Given the description of an element on the screen output the (x, y) to click on. 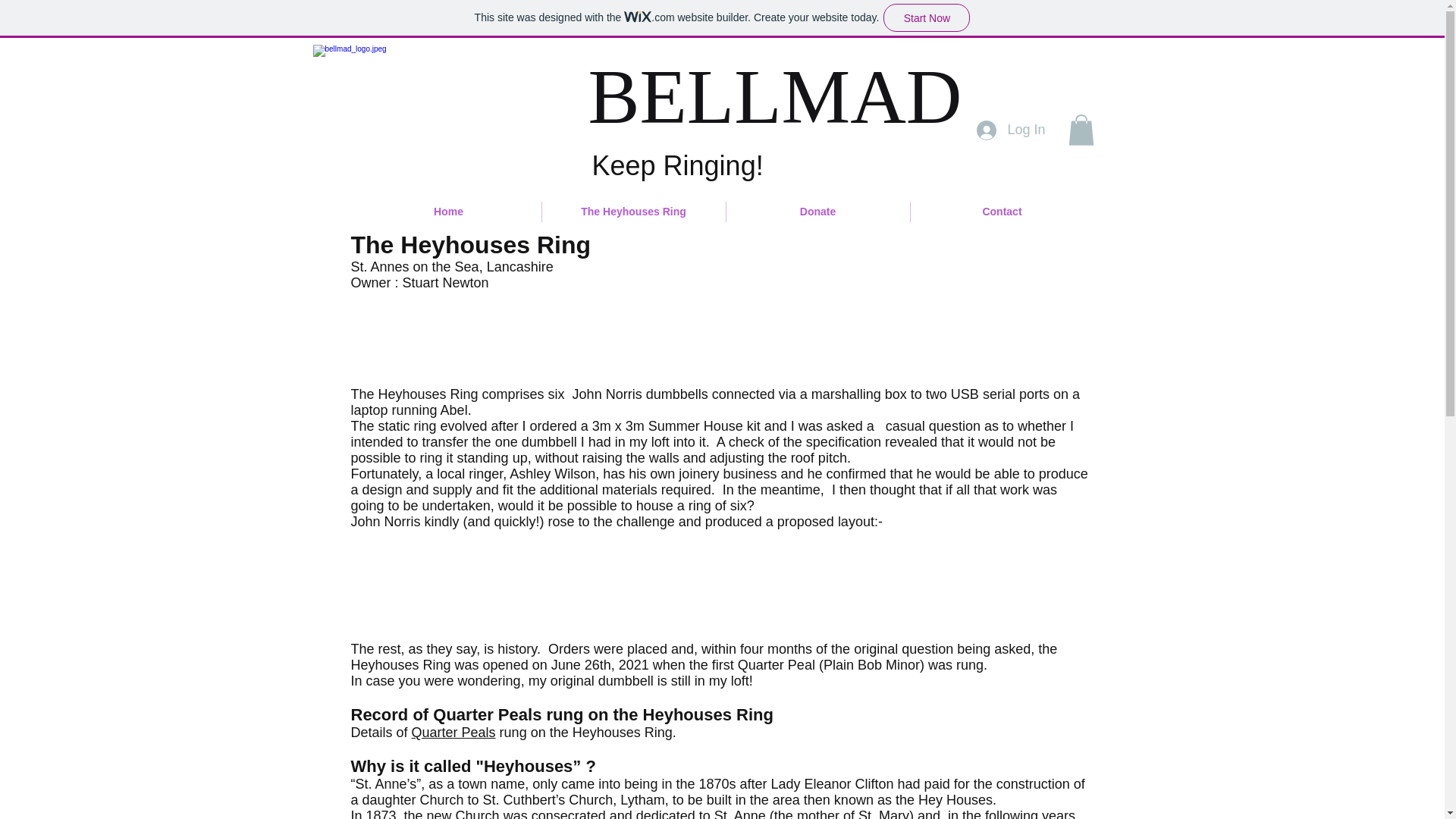
Contact (1001, 211)
The Heyhouses Ring (633, 211)
Donate (818, 211)
Log In (1010, 130)
Quarter Peals (454, 732)
BELLMAD (775, 96)
Home (448, 211)
